Given the description of an element on the screen output the (x, y) to click on. 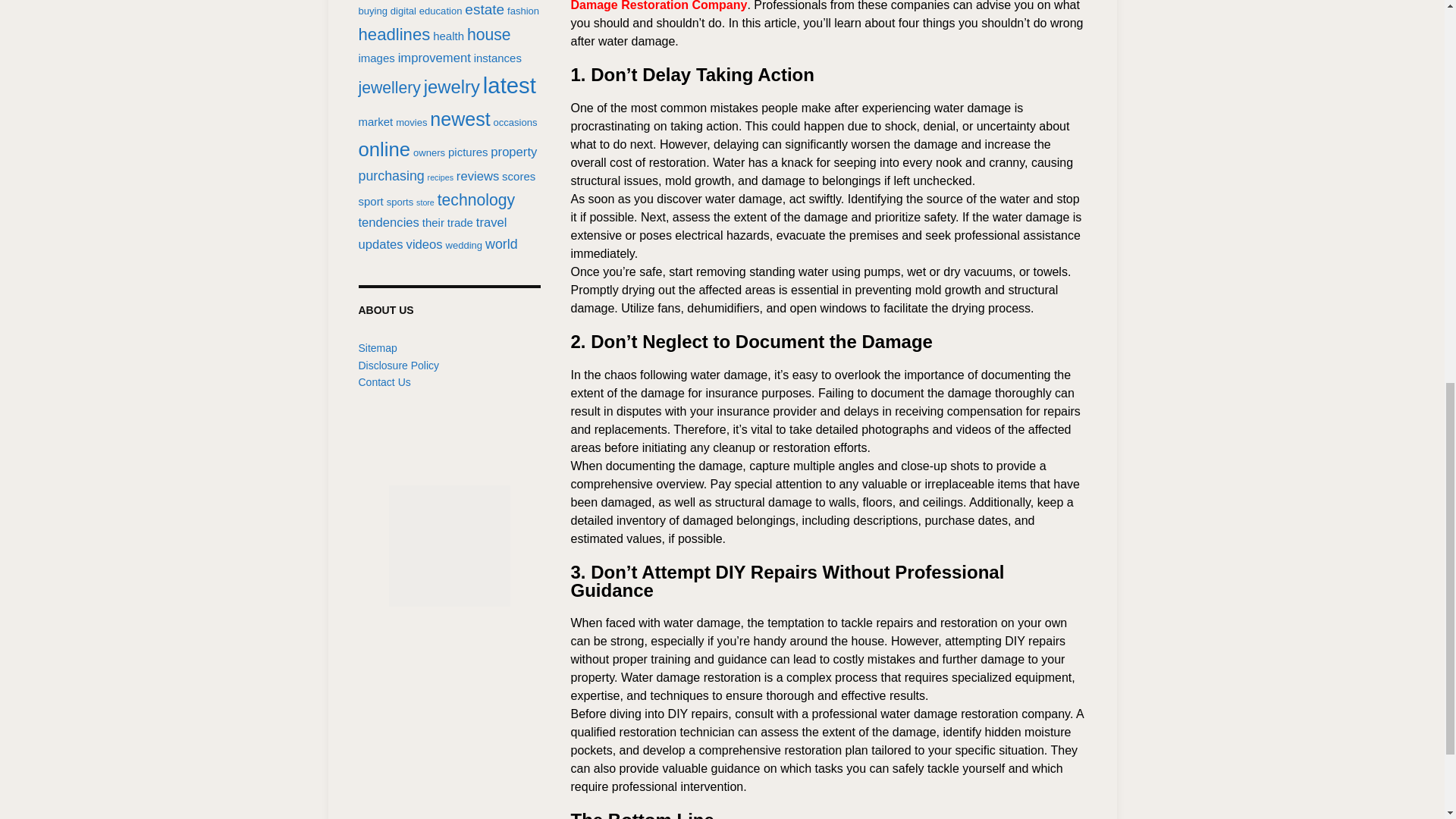
fashion (522, 10)
jewelry (451, 86)
instances (497, 57)
health (448, 35)
latest (509, 84)
images (376, 57)
estate (483, 9)
headlines (393, 34)
education (441, 10)
house (489, 34)
